Given the description of an element on the screen output the (x, y) to click on. 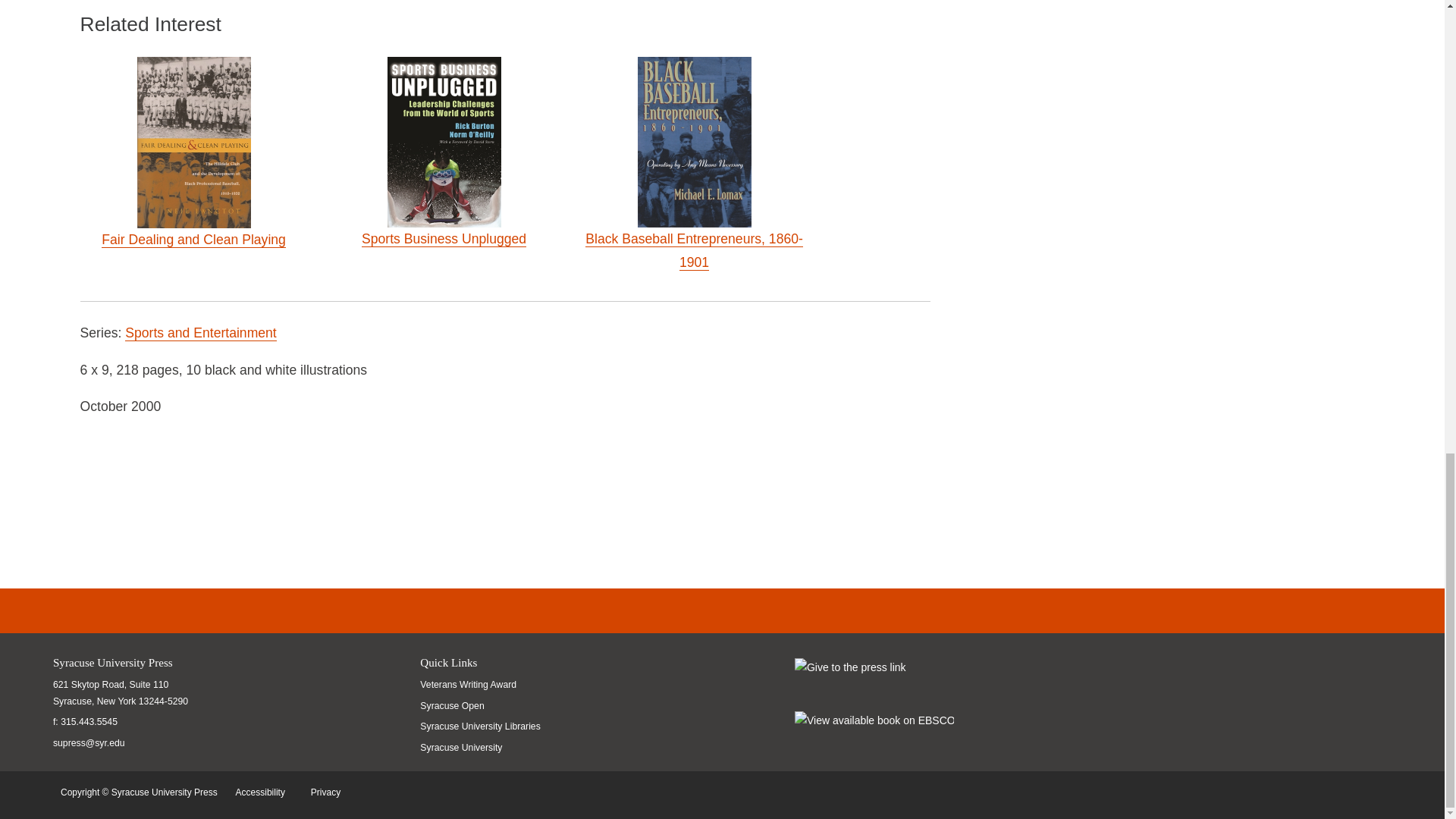
Accessibility (264, 792)
YouTube (240, 610)
Syracuse University Libraries (483, 726)
Veterans Writing Award (483, 684)
Open location in Google Maps (119, 693)
Syracuse University (483, 747)
Syracuse Open (483, 706)
Fair Dealing and Clean Playing (193, 239)
Black Baseball Entrepreneurs, 1860-1901 (694, 250)
